Given the description of an element on the screen output the (x, y) to click on. 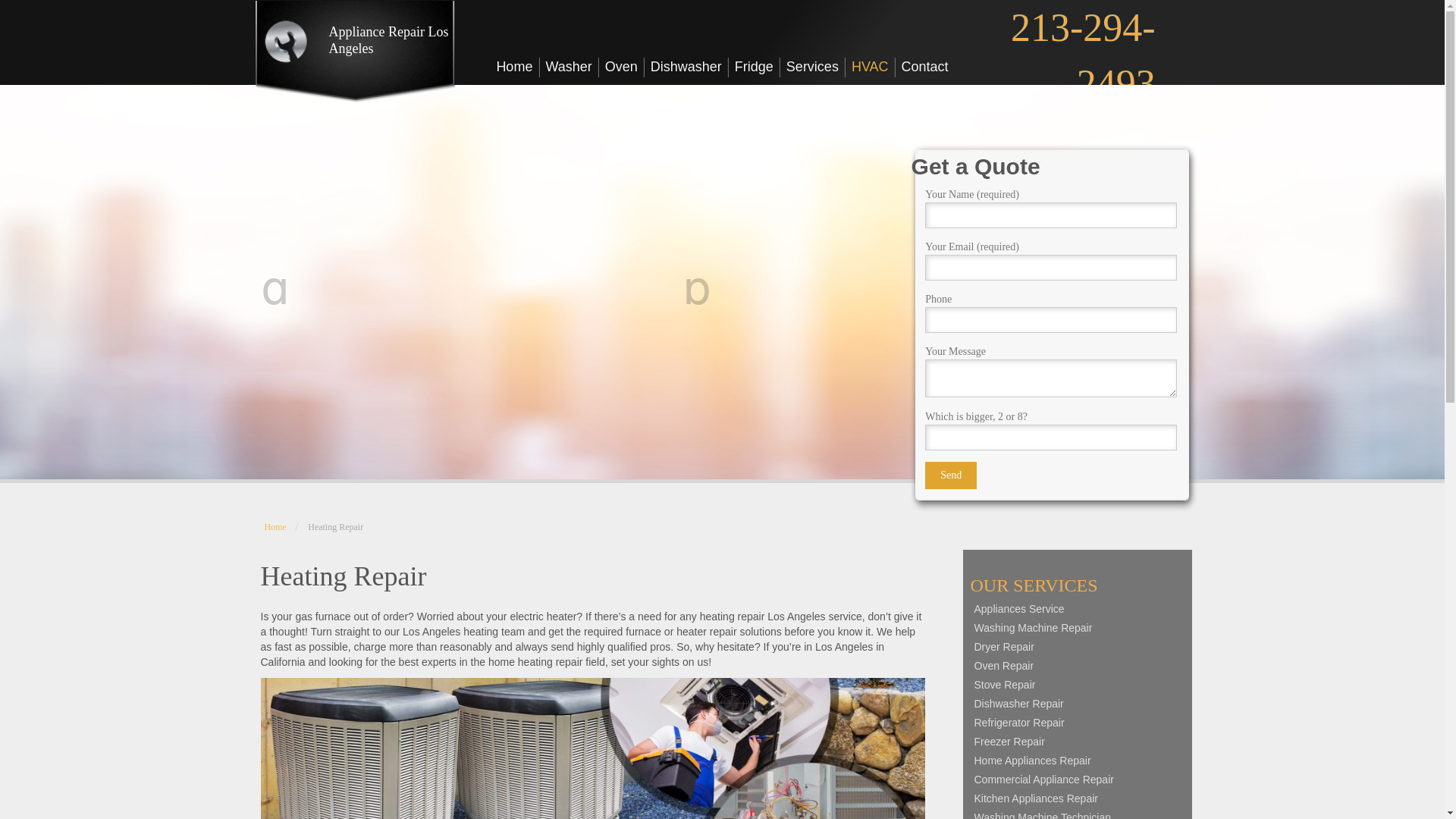
Washer (568, 66)
Services (812, 66)
HVAC (870, 66)
Fridge (754, 66)
Home (513, 66)
Contact (925, 66)
Dishwasher (687, 66)
213-294-2493 (1083, 55)
Oven (621, 66)
Send (950, 474)
